Given the description of an element on the screen output the (x, y) to click on. 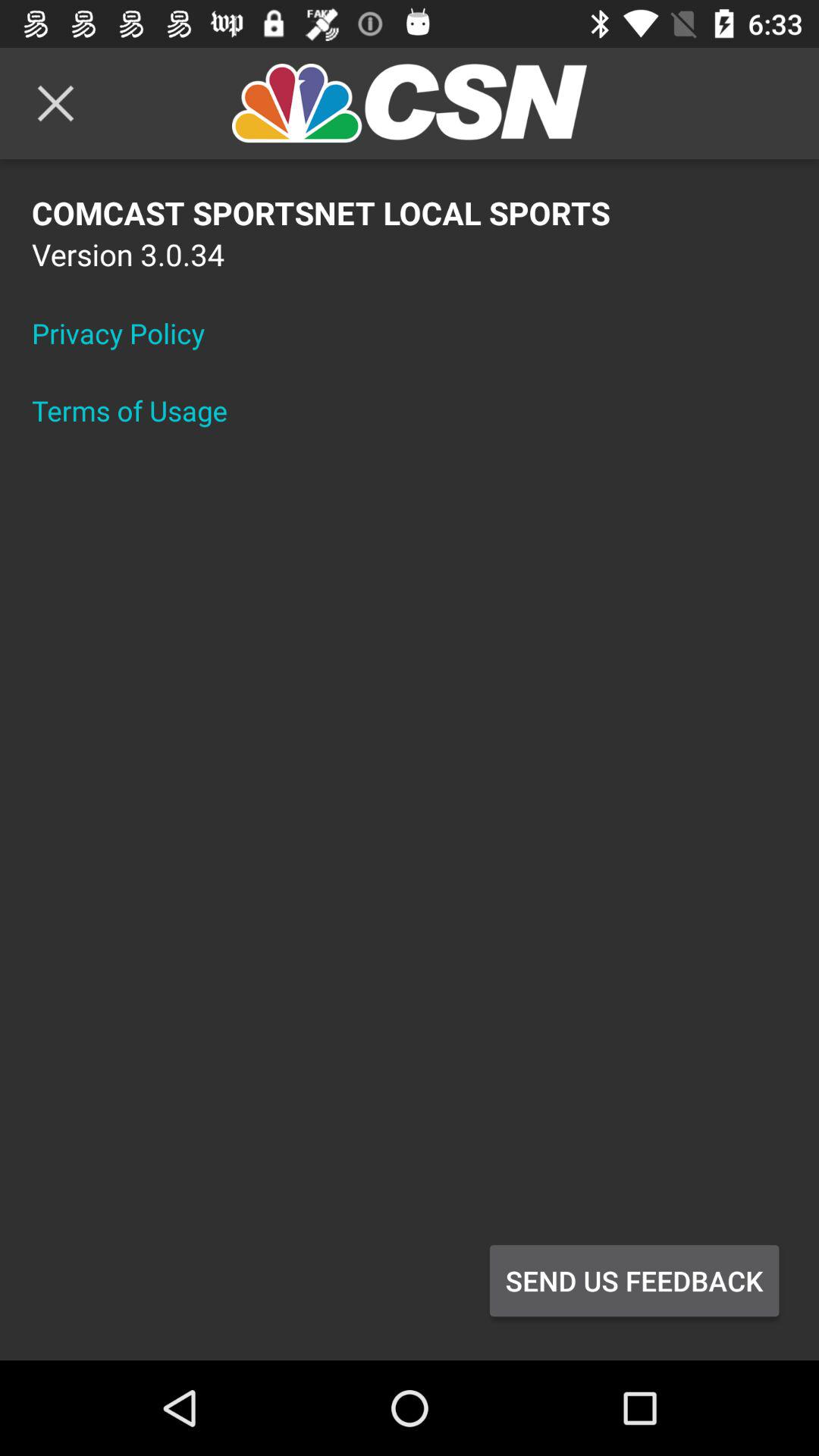
turn on the terms of usage icon (139, 410)
